Given the description of an element on the screen output the (x, y) to click on. 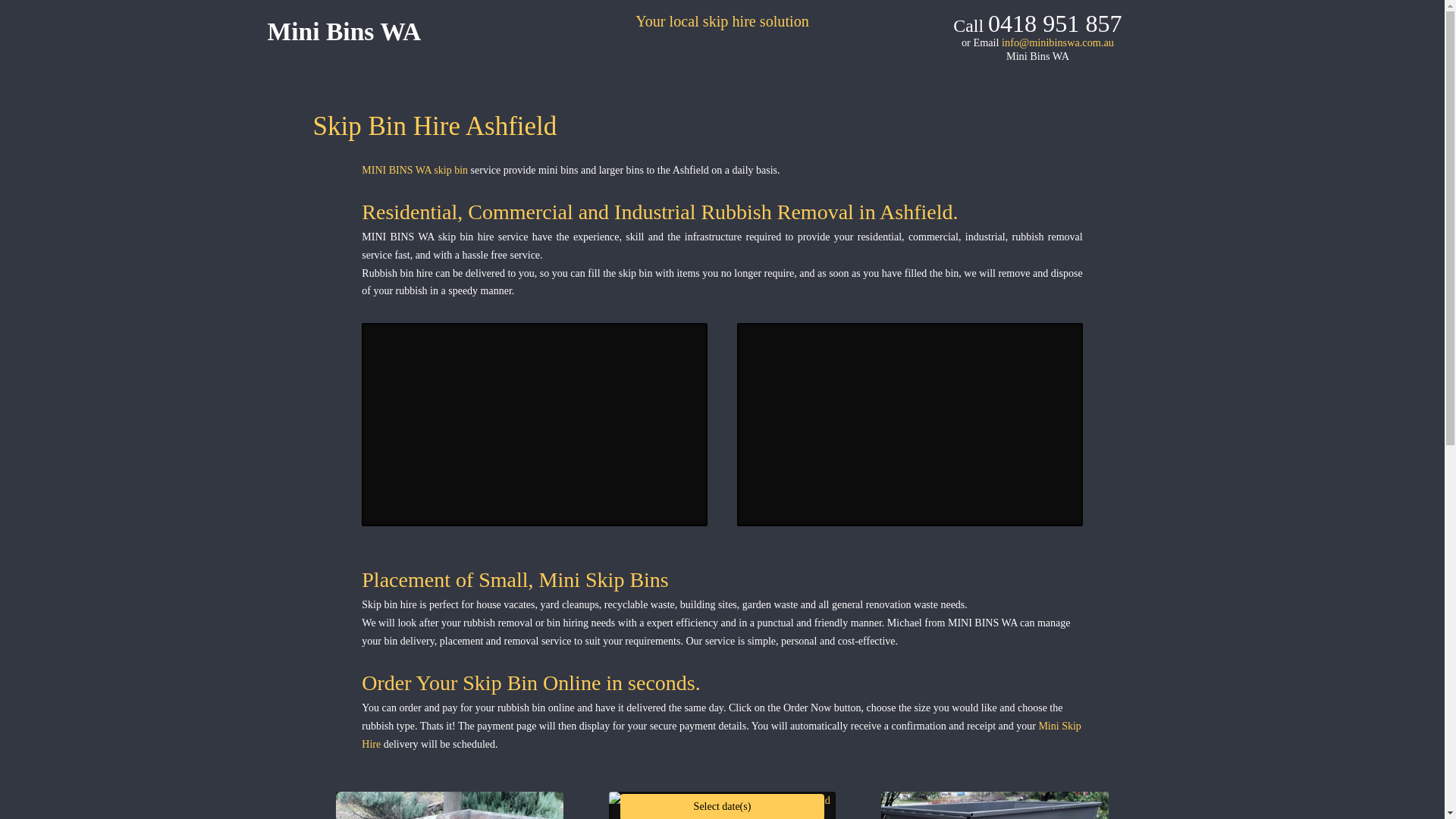
info@minibinswa.com.au Element type: text (1057, 42)
Mini Skip Hire Element type: text (721, 734)
MINI BINS WA skip bin Element type: text (414, 169)
Mini Bins WA Element type: text (343, 31)
